Given the description of an element on the screen output the (x, y) to click on. 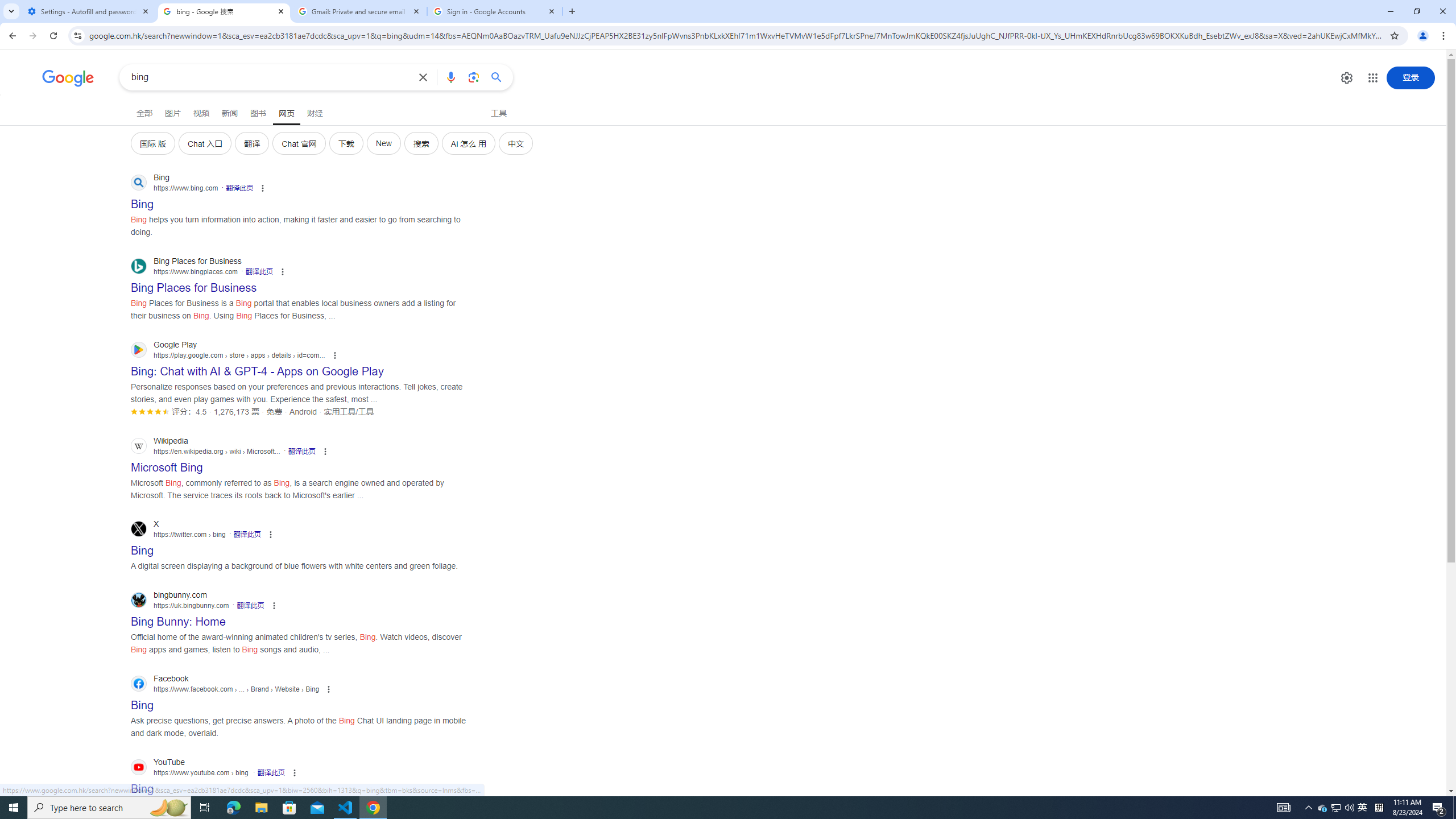
 Bing Bunny: Home bingbunny.com https://uk.bingbunny.com (178, 617)
Settings - Autofill and passwords (88, 11)
